Given the description of an element on the screen output the (x, y) to click on. 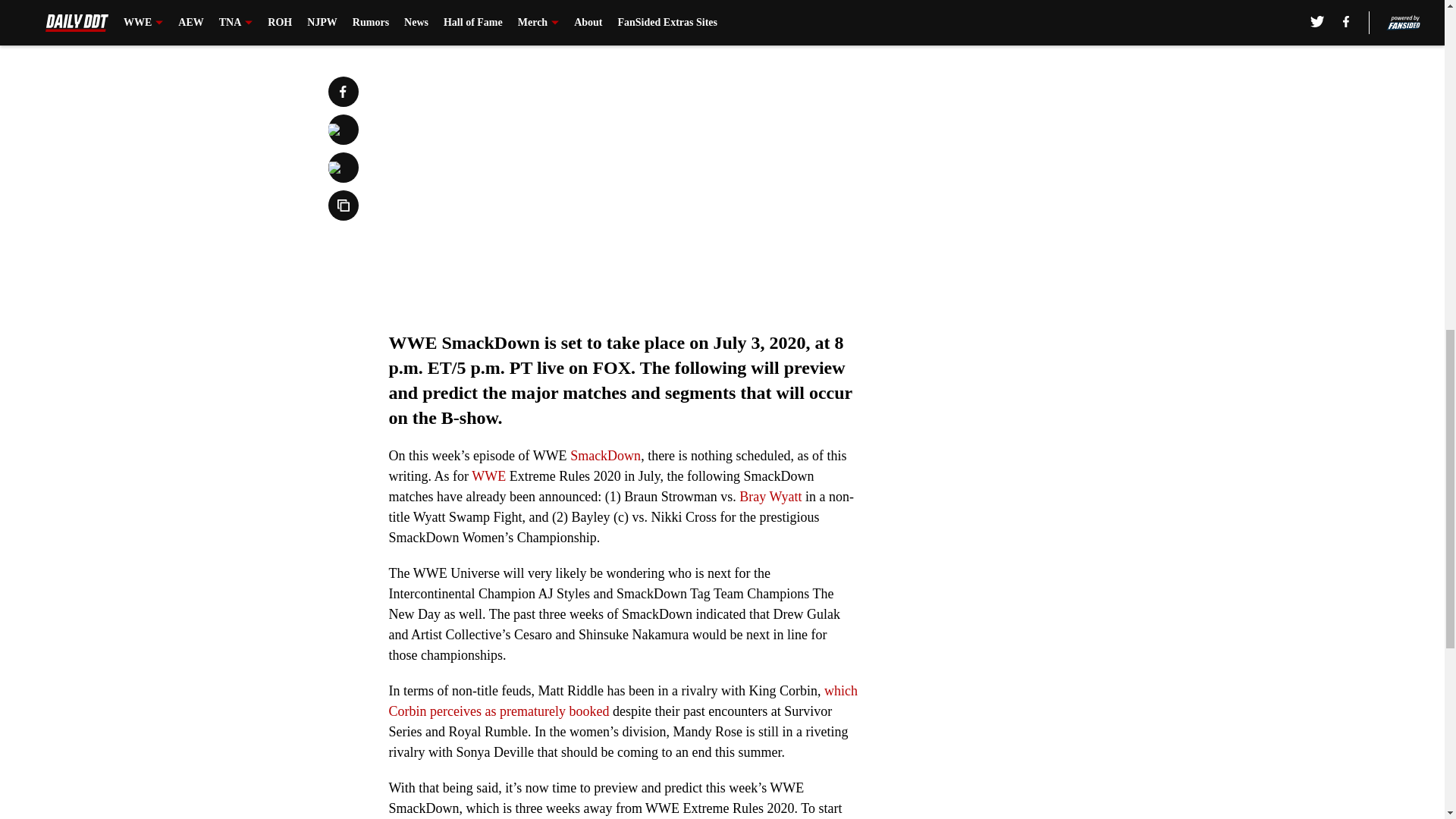
WWE (488, 476)
Bray Wyatt (770, 496)
Prev (433, 20)
SmackDown (605, 455)
which Corbin perceives as prematurely booked (622, 701)
Next (813, 20)
